Given the description of an element on the screen output the (x, y) to click on. 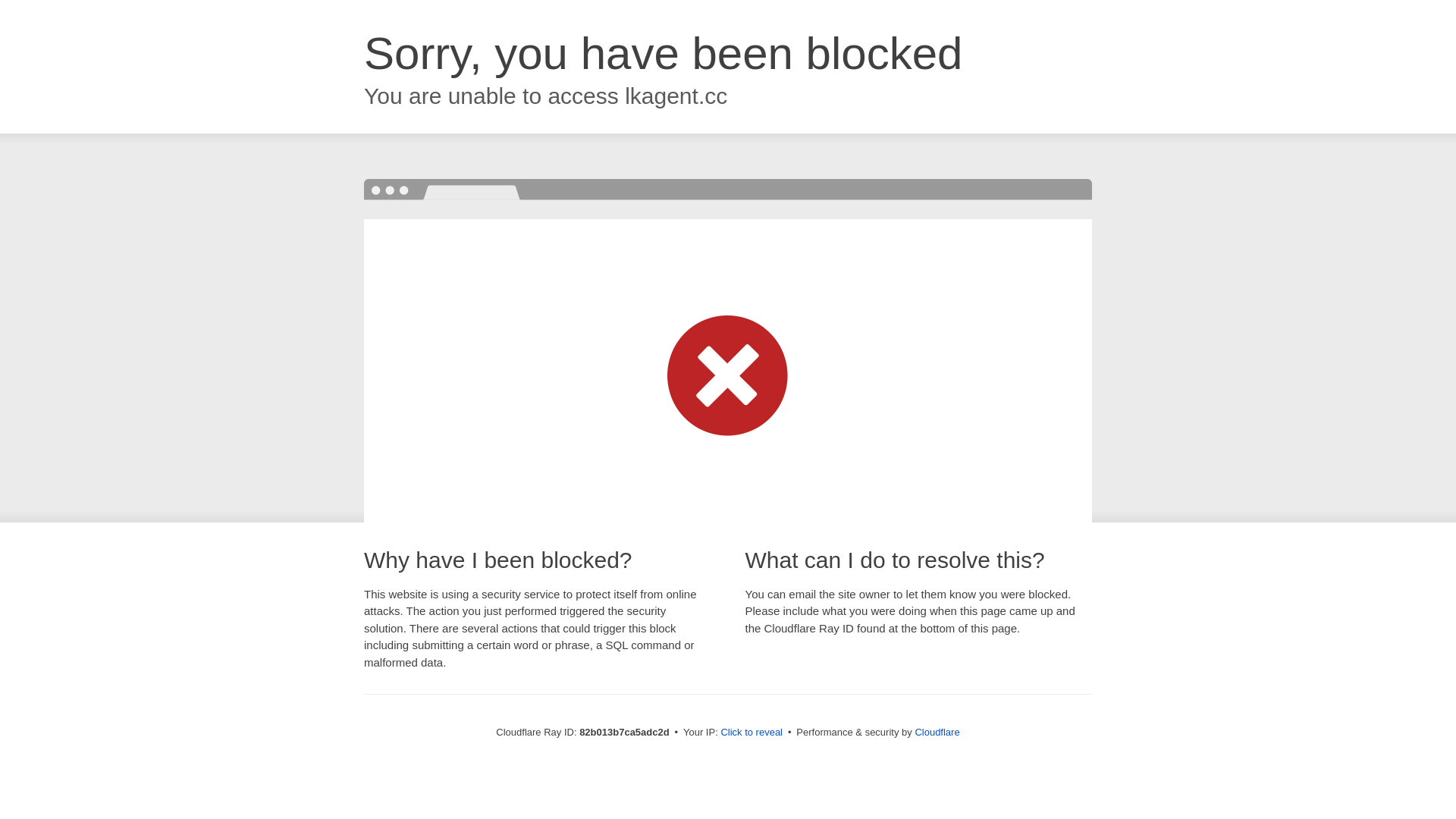
Cloudflare Element type: text (936, 731)
Click to reveal Element type: text (751, 732)
